Given the description of an element on the screen output the (x, y) to click on. 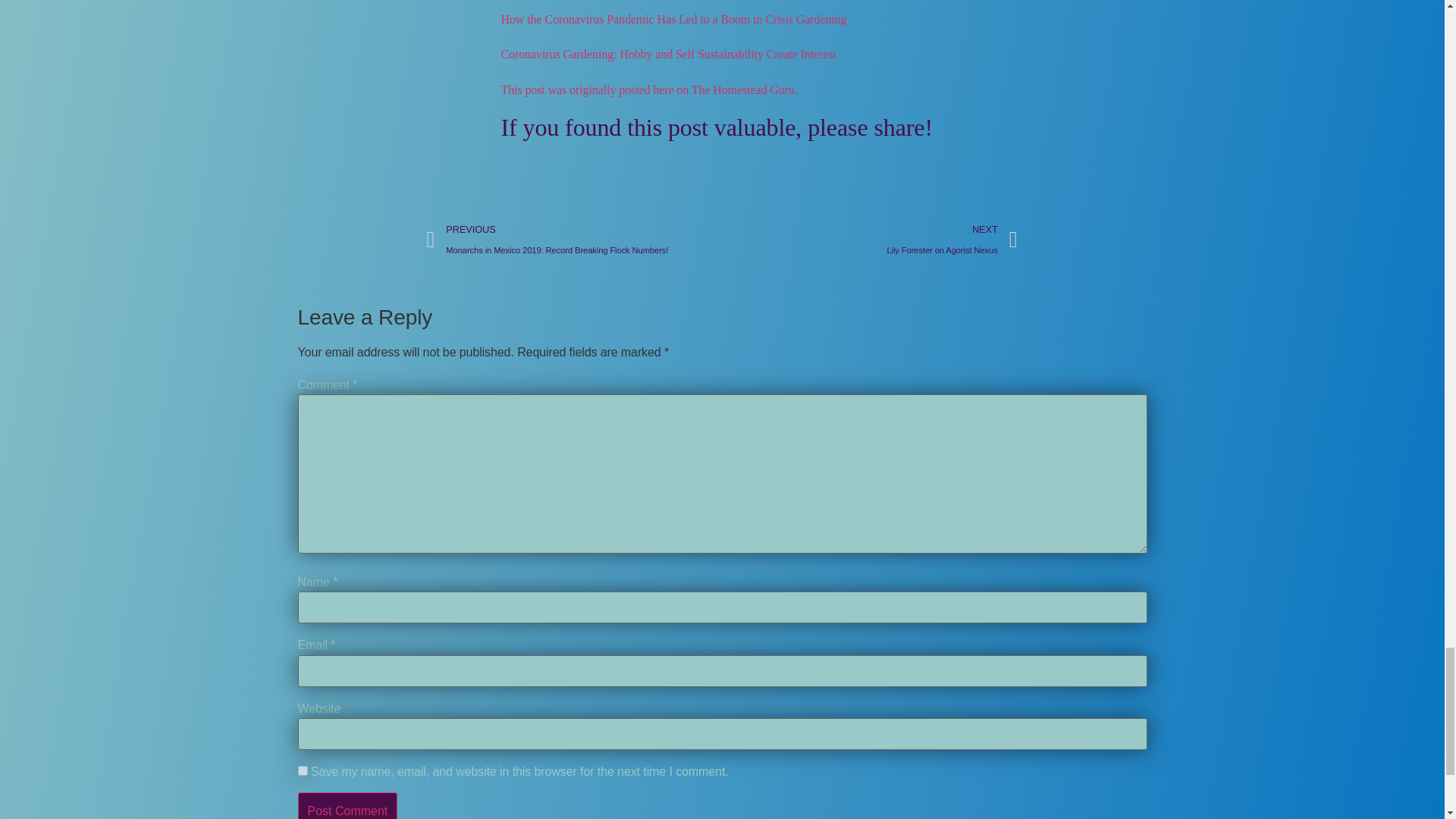
yes (302, 770)
Post Comment (347, 805)
